Given the description of an element on the screen output the (x, y) to click on. 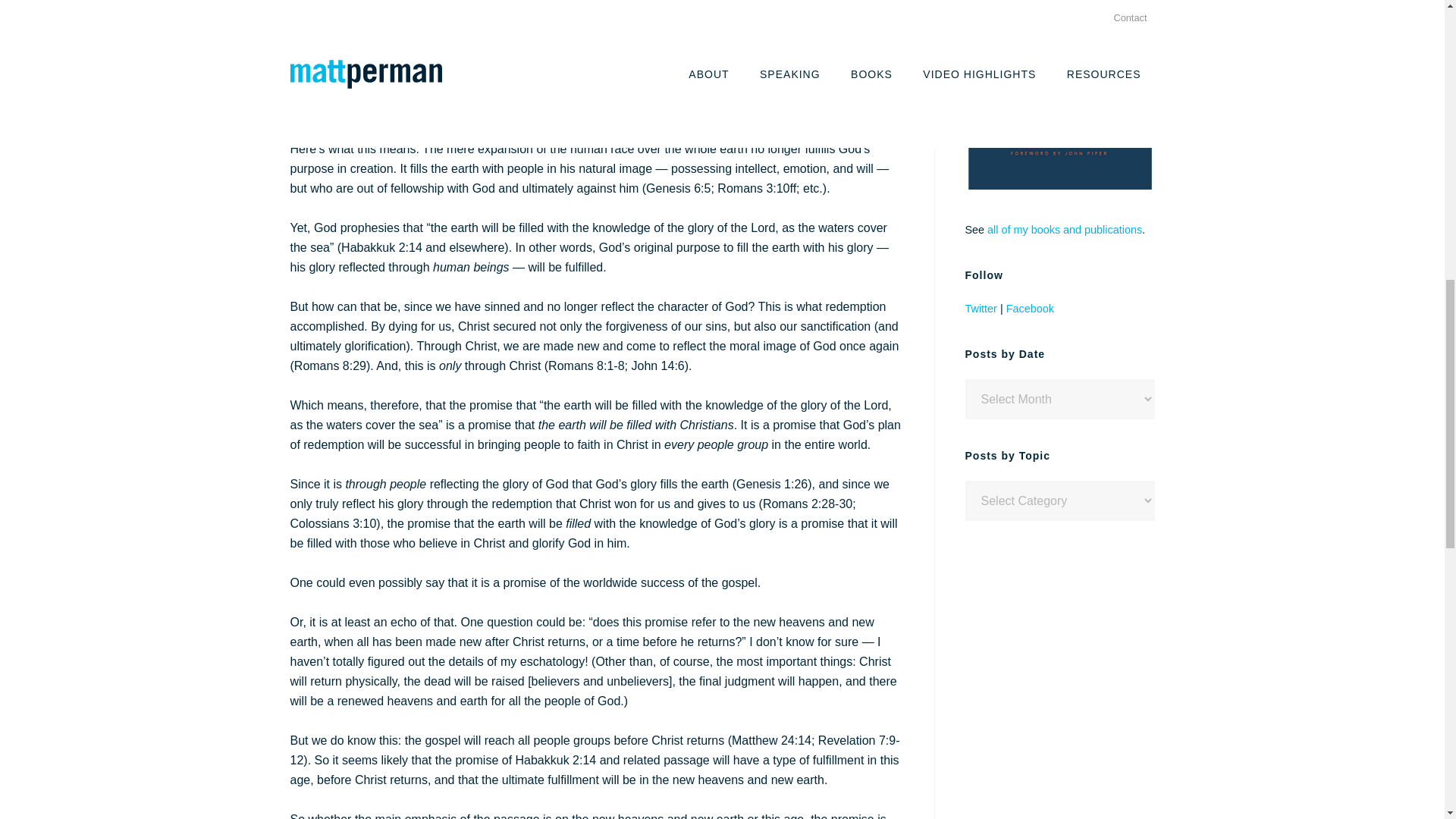
Facebook (1030, 308)
all of my books and publications (1064, 229)
Twitter (979, 308)
